Given the description of an element on the screen output the (x, y) to click on. 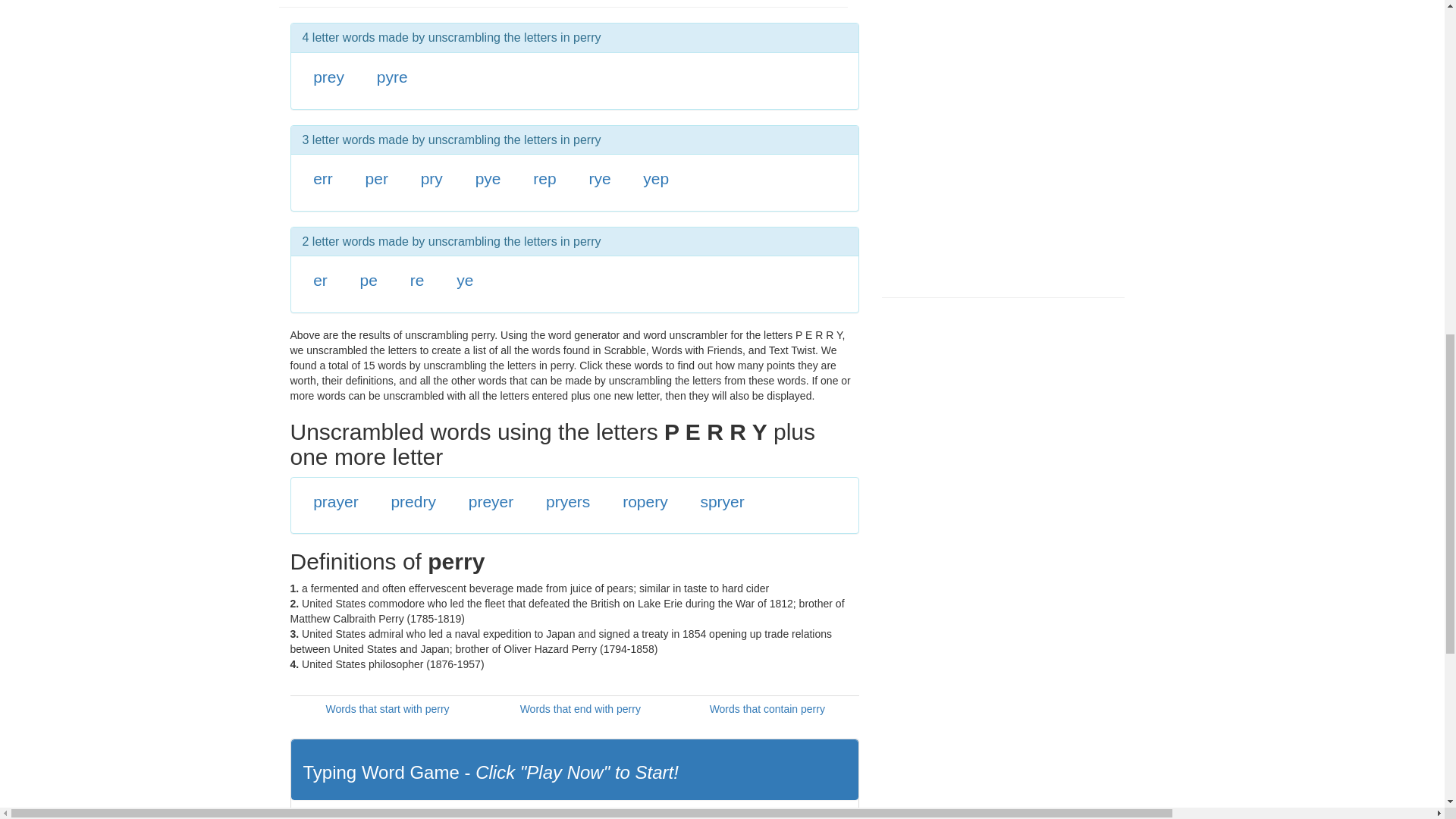
spryer (722, 501)
Words that start with perry (386, 708)
Words that contain perry (767, 708)
yep (655, 178)
pye (488, 178)
pe (368, 280)
err (323, 178)
prey (328, 76)
predry (412, 501)
rep (544, 178)
